Given the description of an element on the screen output the (x, y) to click on. 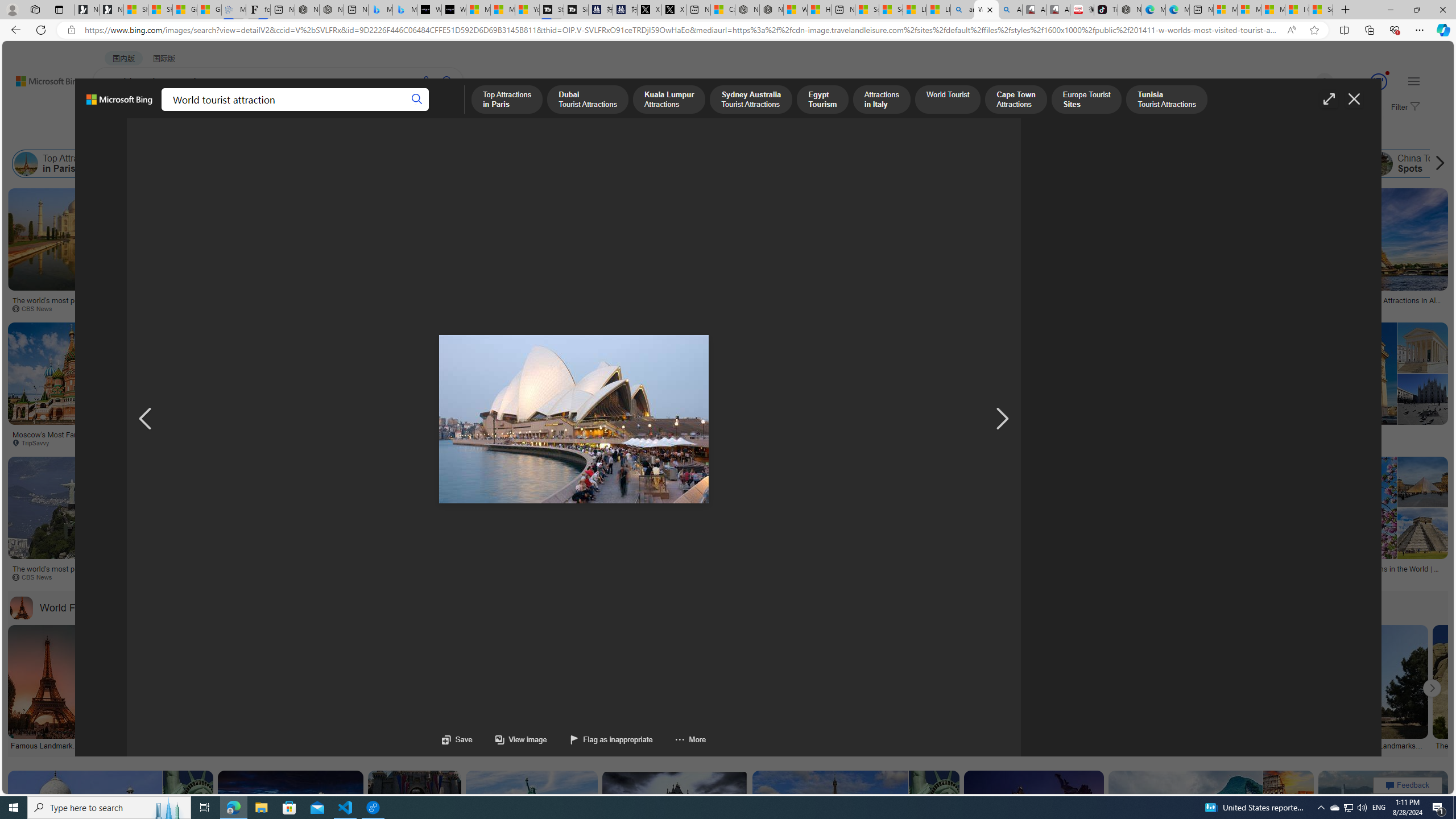
rainforestcruises.com (657, 442)
Eiffel Tower Souvenir (727, 227)
VIDEOS (260, 111)
Huge shark washes ashore at New York City beach | Watch (818, 9)
Top world's tourist places to visit (834, 434)
Egypt Tourism (480, 163)
World Famous Landmarks (85, 607)
100 Most Famous Landmarks Around the World | RAX BOOK (819, 744)
Microsoft Bing Travel - Shangri-La Hotel Bangkok (404, 9)
